Given the description of an element on the screen output the (x, y) to click on. 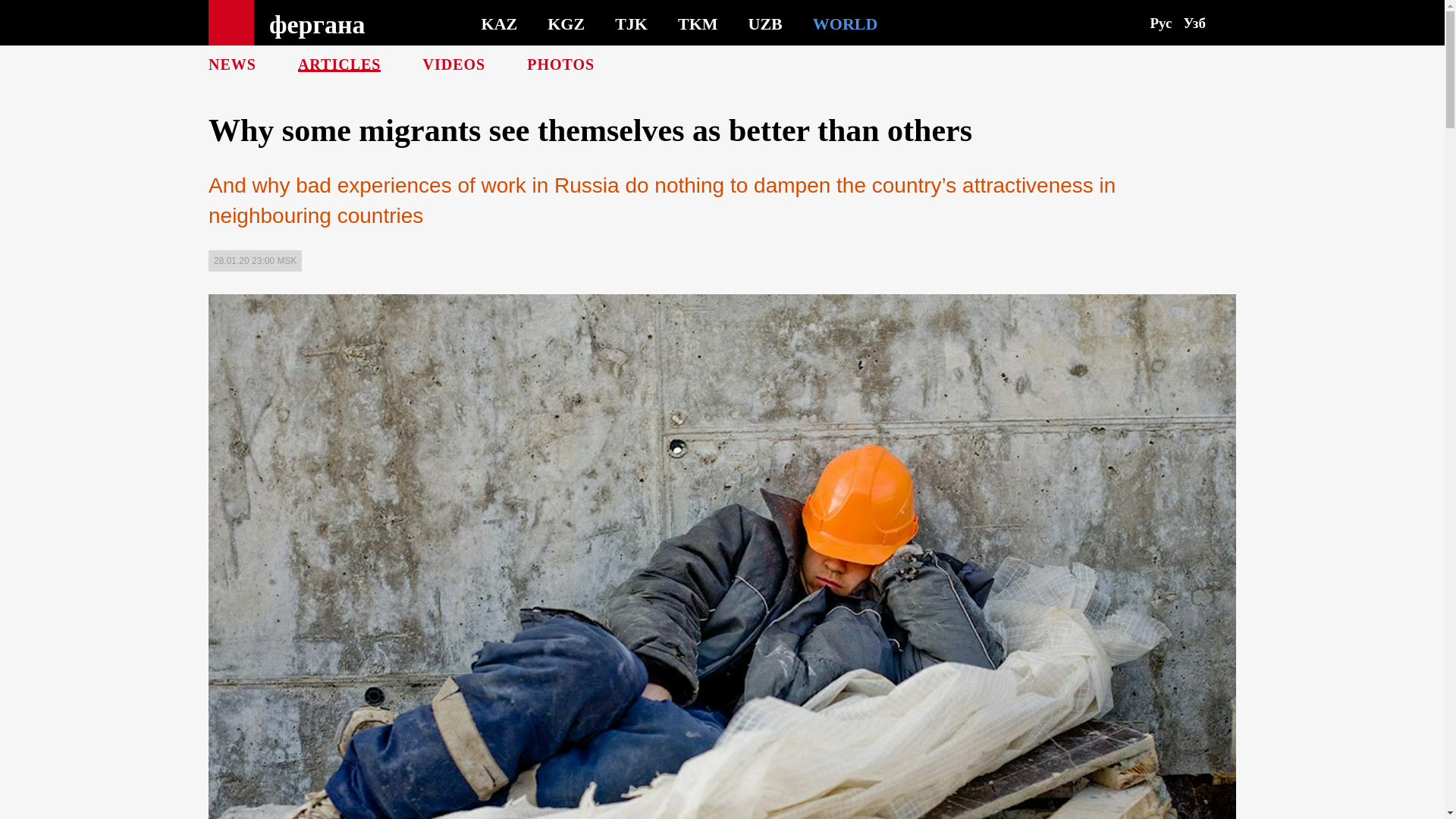
KAZ (499, 22)
KGZ (566, 22)
TJK (630, 22)
UZB (765, 22)
ARTICLES (339, 63)
PHOTOS (560, 63)
NEWS (232, 63)
TKM (697, 22)
WORLD (844, 22)
VIDEOS (453, 63)
